Given the description of an element on the screen output the (x, y) to click on. 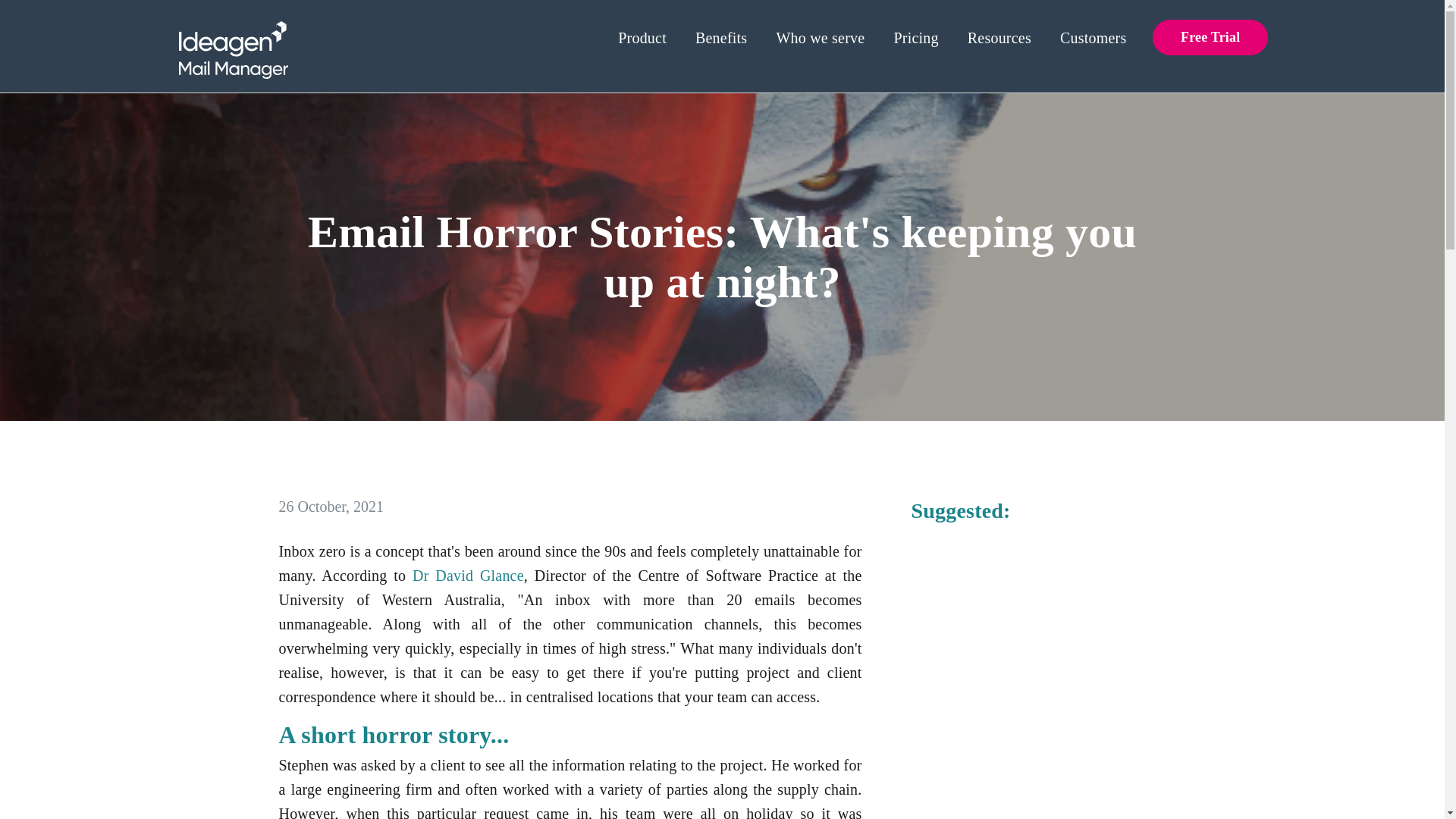
Free Trial (1210, 37)
Product (642, 39)
Resources (999, 39)
Pricing (915, 39)
Who we serve (820, 39)
Benefits (721, 39)
